Given the description of an element on the screen output the (x, y) to click on. 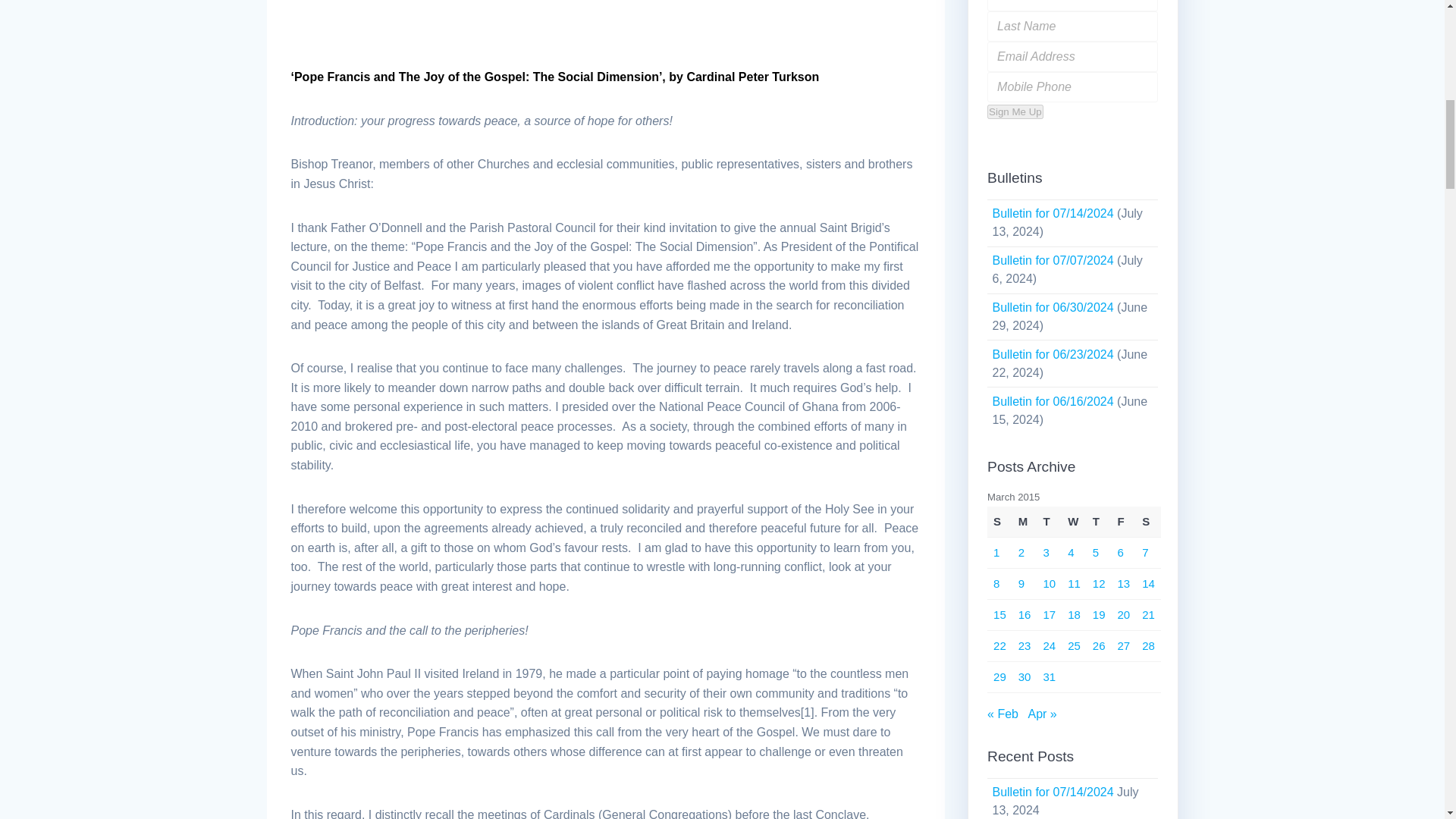
Sign Me Up (1015, 111)
